Given the description of an element on the screen output the (x, y) to click on. 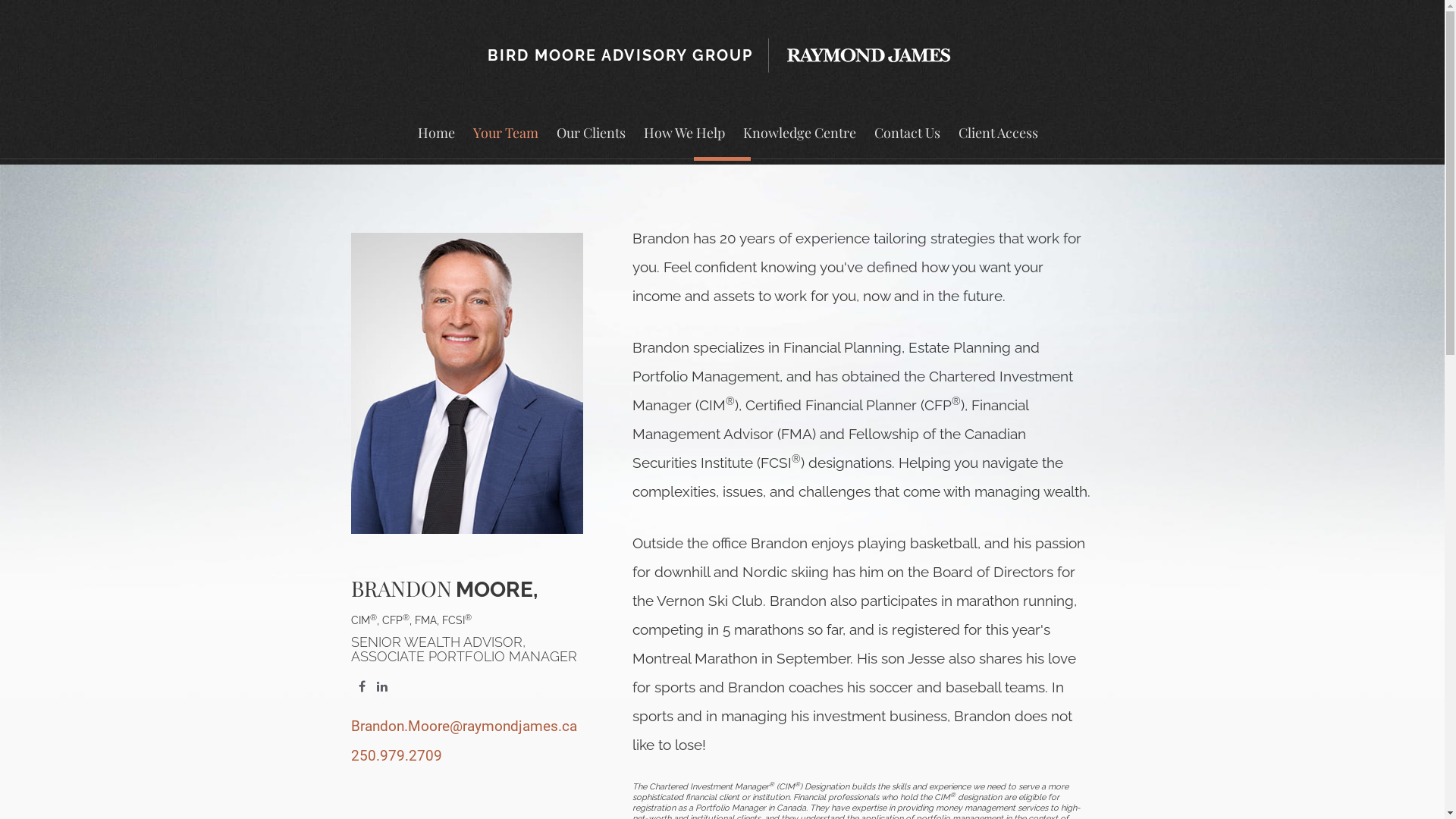
Home Element type: text (435, 143)
Our Clients Element type: text (590, 143)
Brandon.Moore@raymondjames.ca Element type: text (463, 725)
How We Help Element type: text (683, 143)
Contact Us Element type: text (906, 143)
Knowledge Centre Element type: text (798, 143)
Client Access Element type: text (997, 143)
Your Team Element type: text (504, 143)
250.979.2709 Element type: text (395, 755)
